Given the description of an element on the screen output the (x, y) to click on. 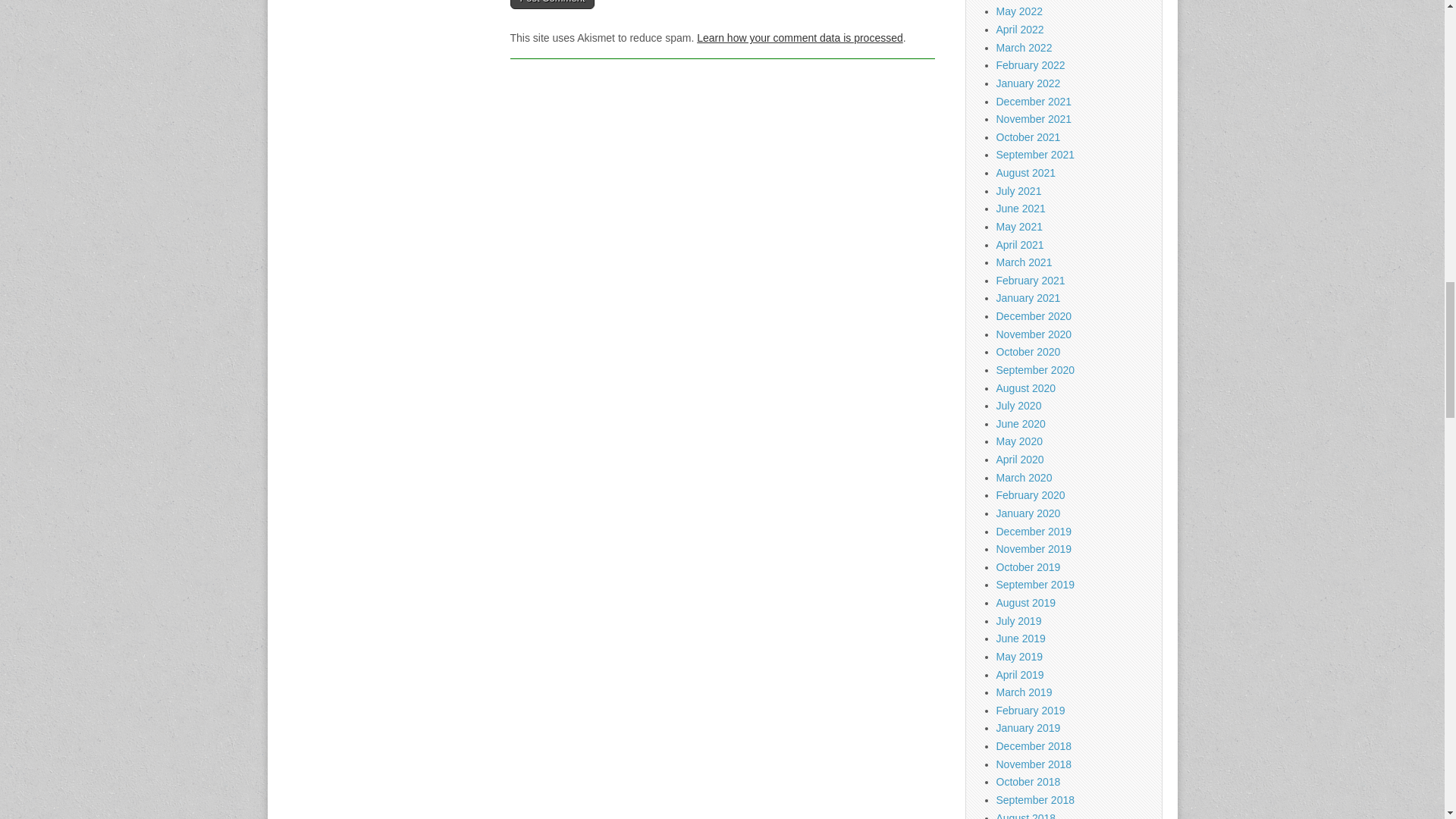
Post Comment (551, 4)
Learn how your comment data is processed (799, 37)
Post Comment (551, 4)
